Given the description of an element on the screen output the (x, y) to click on. 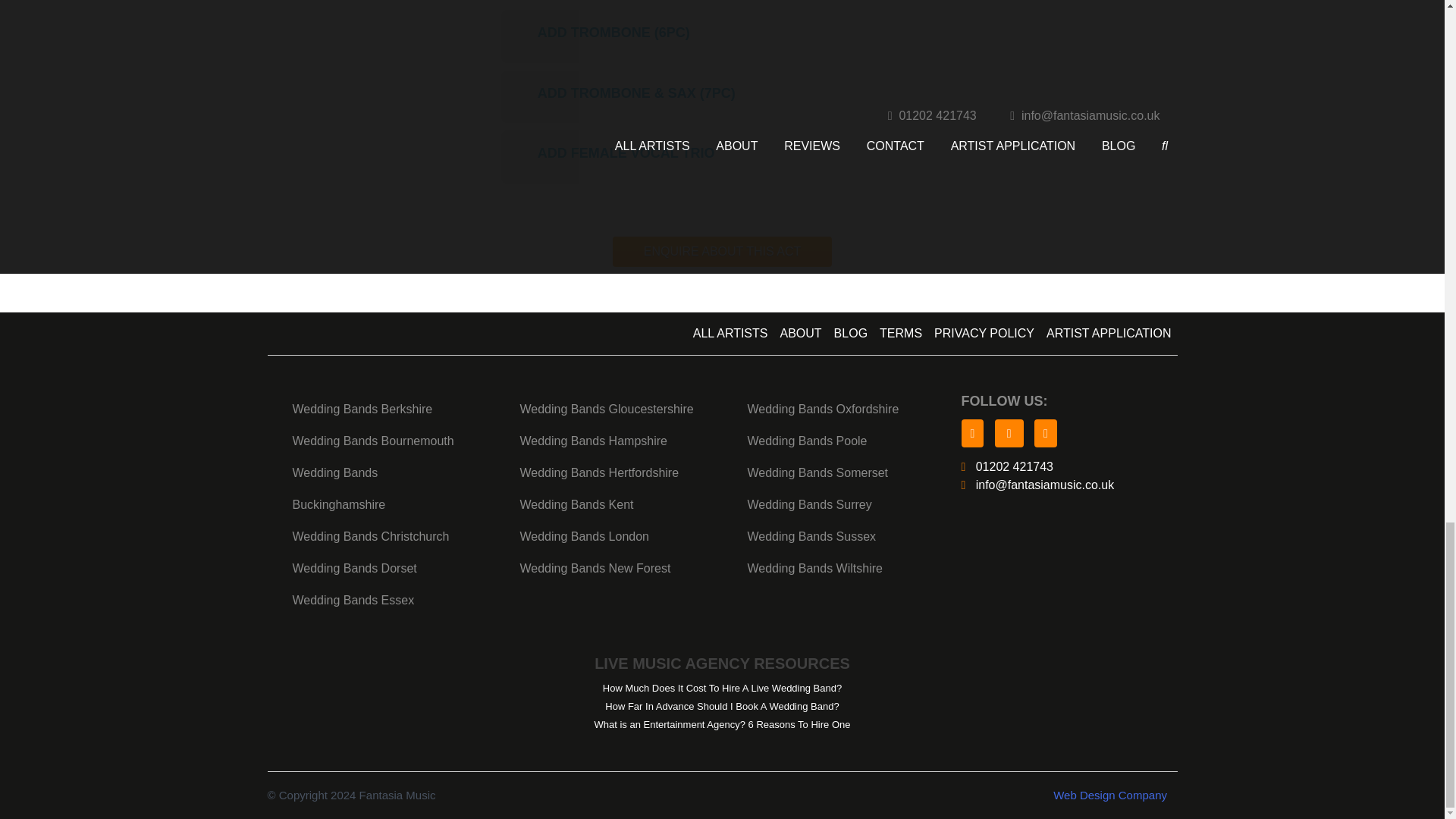
All Artists (730, 333)
About (800, 333)
Privacy Policy (984, 333)
ENQUIRE ABOUT THIS ACT (721, 251)
Blog (850, 333)
Terms (900, 333)
Artist Application (1109, 333)
